Given the description of an element on the screen output the (x, y) to click on. 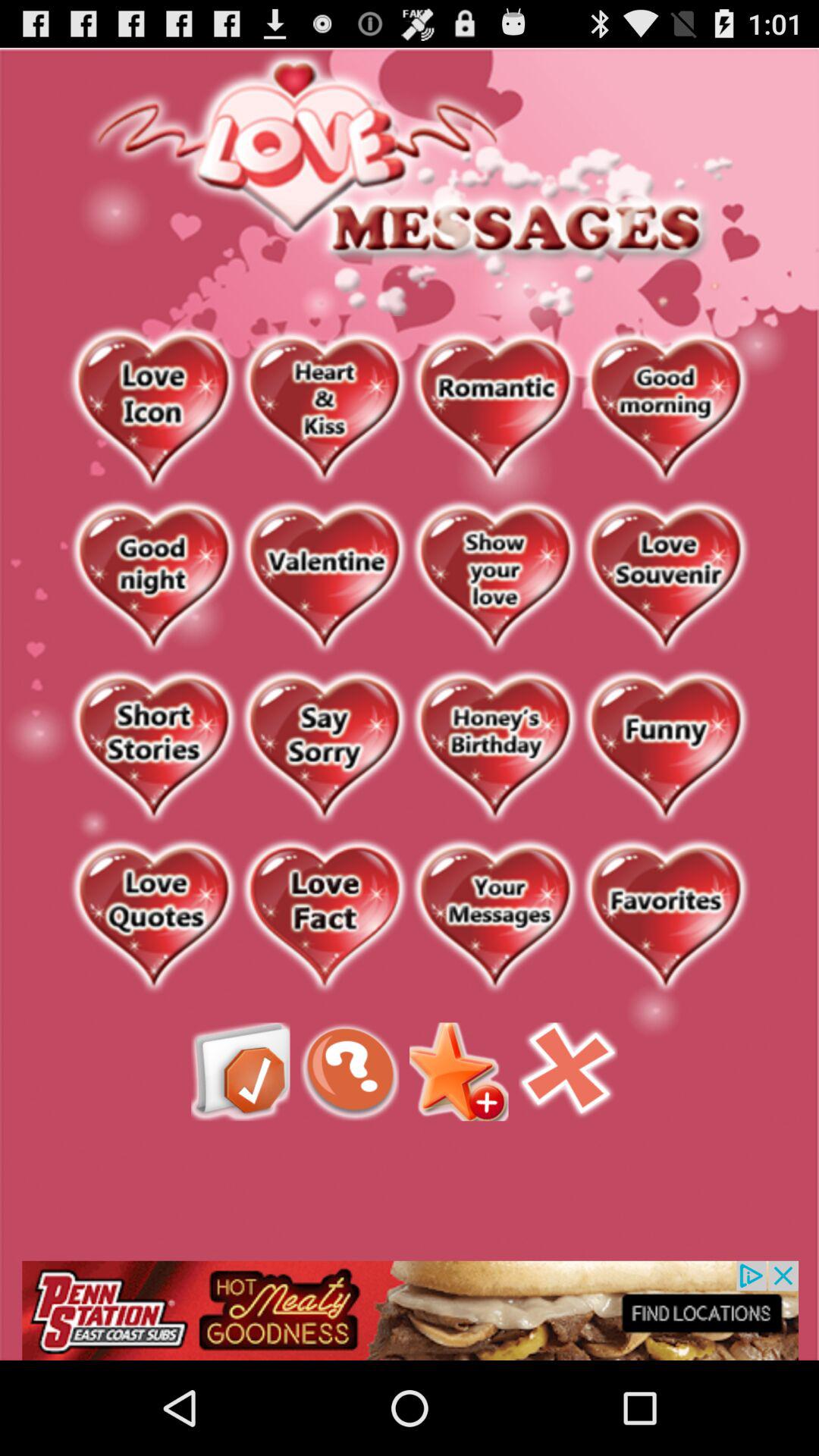
link button (665, 578)
